Given the description of an element on the screen output the (x, y) to click on. 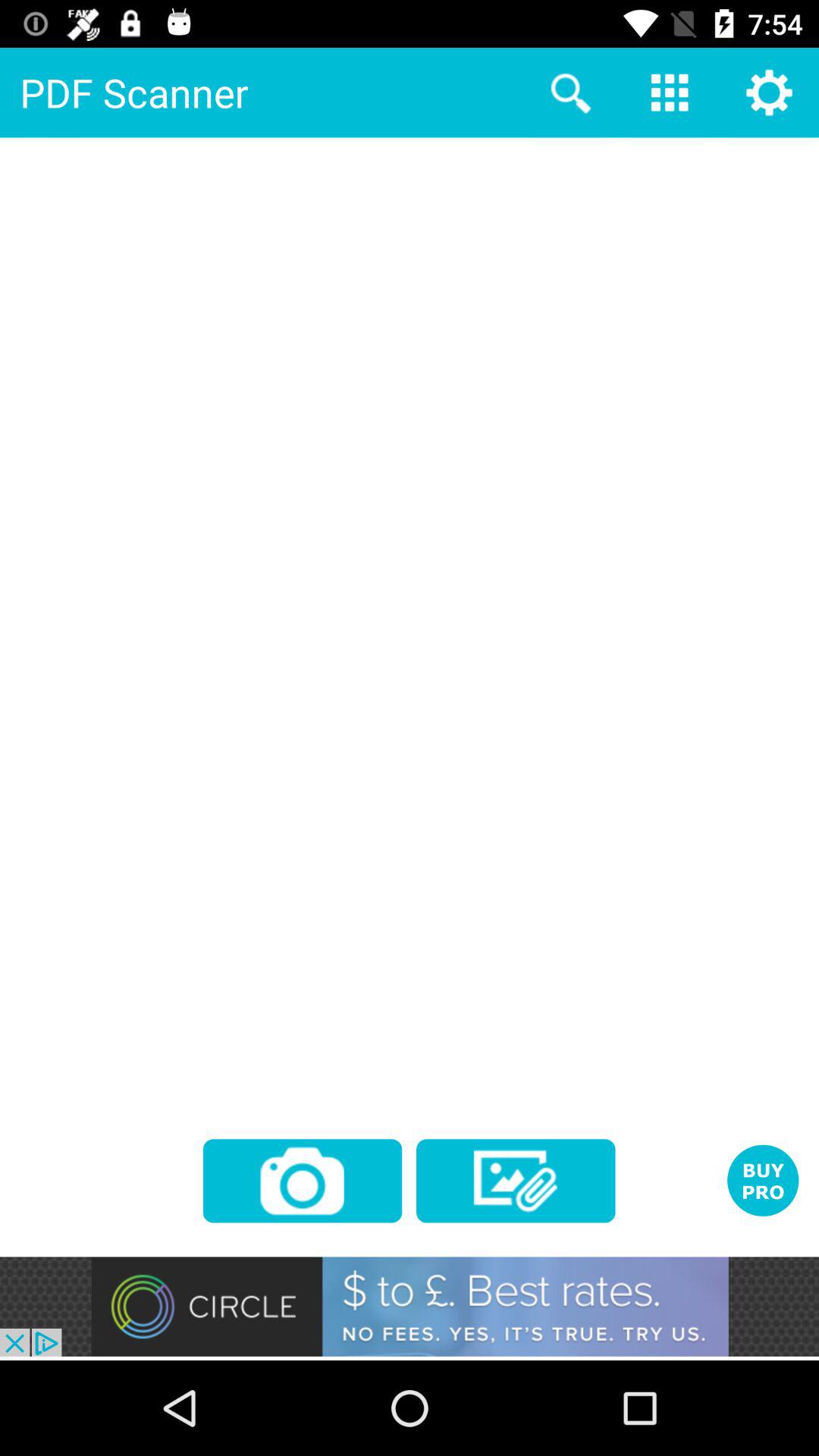
buy pro (763, 1180)
